Given the description of an element on the screen output the (x, y) to click on. 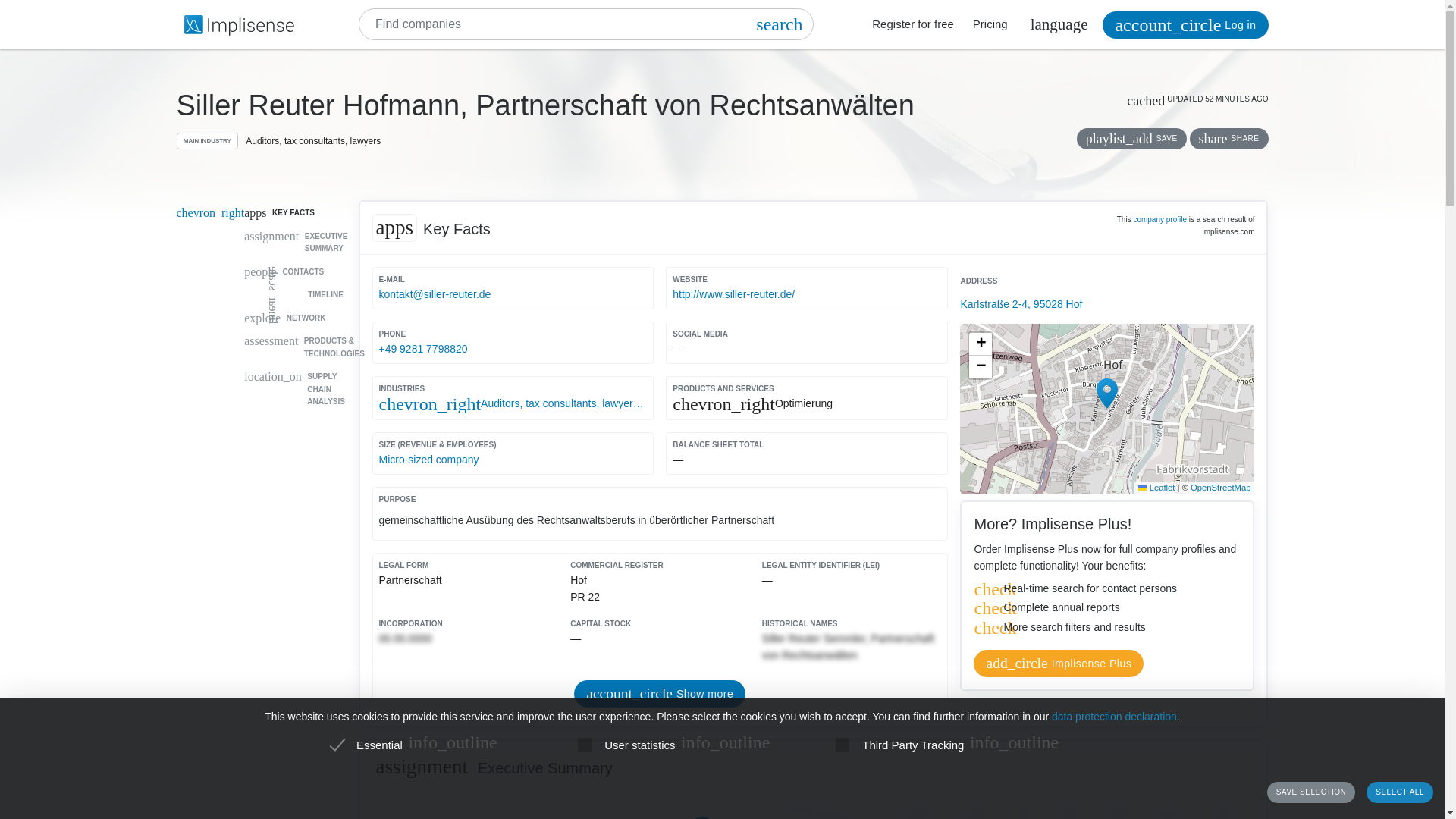
Leaflet (1156, 487)
Register for free (912, 24)
Micro-sized company (512, 459)
Zoom out (980, 366)
Implisense Plus (1058, 663)
Zoom in (980, 343)
Log in (1185, 24)
A JavaScript library for interactive maps (1156, 487)
2024-08-17 (1236, 99)
